Given the description of an element on the screen output the (x, y) to click on. 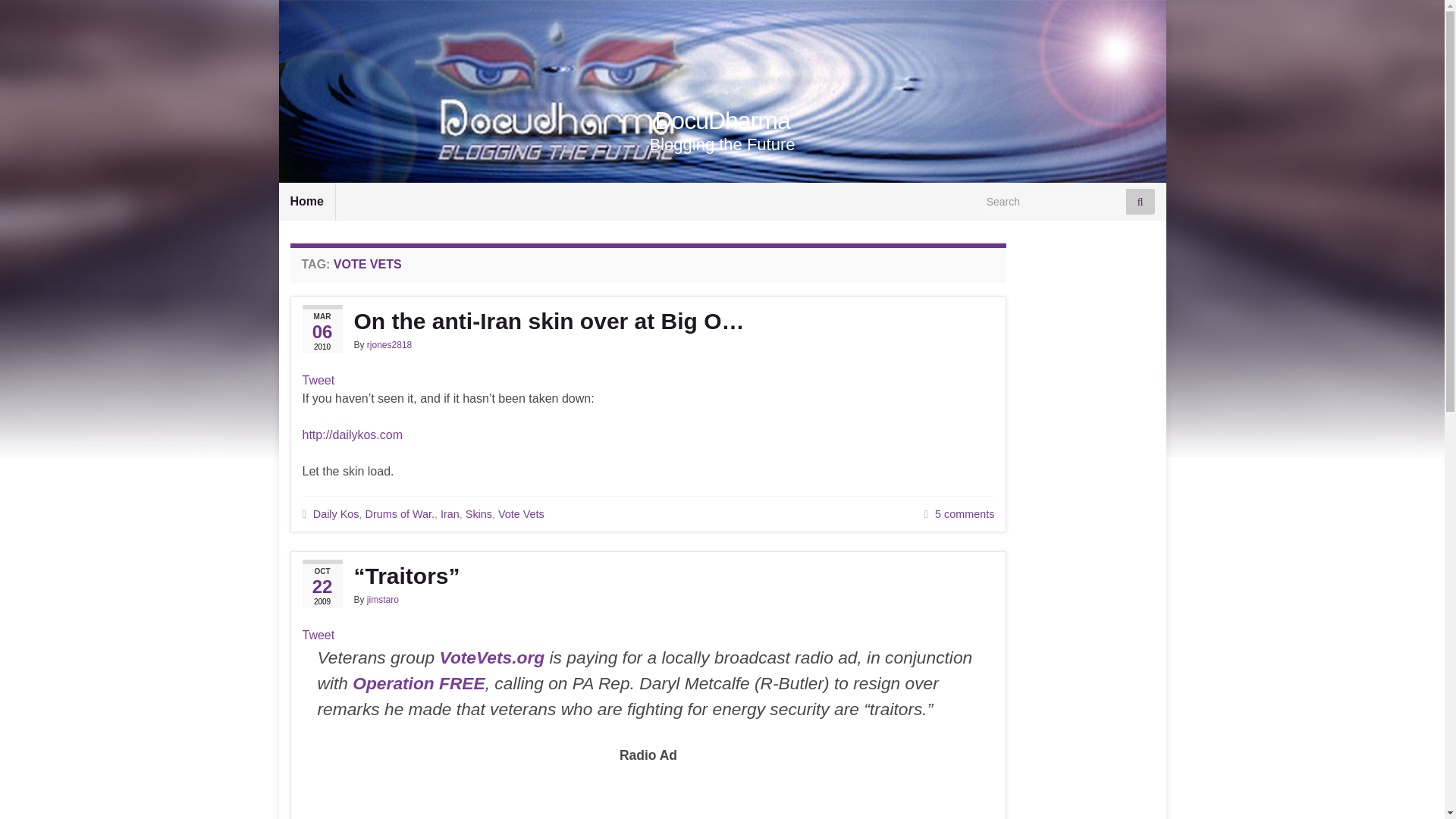
VoteVets.org (491, 657)
Operation FREE (418, 682)
Vote Vets (520, 513)
Skins (478, 513)
jimstaro (382, 599)
Drums of War. (399, 513)
DocuDharma (721, 120)
Home (306, 201)
Go back to the front page (721, 120)
Tweet (317, 379)
